Given the description of an element on the screen output the (x, y) to click on. 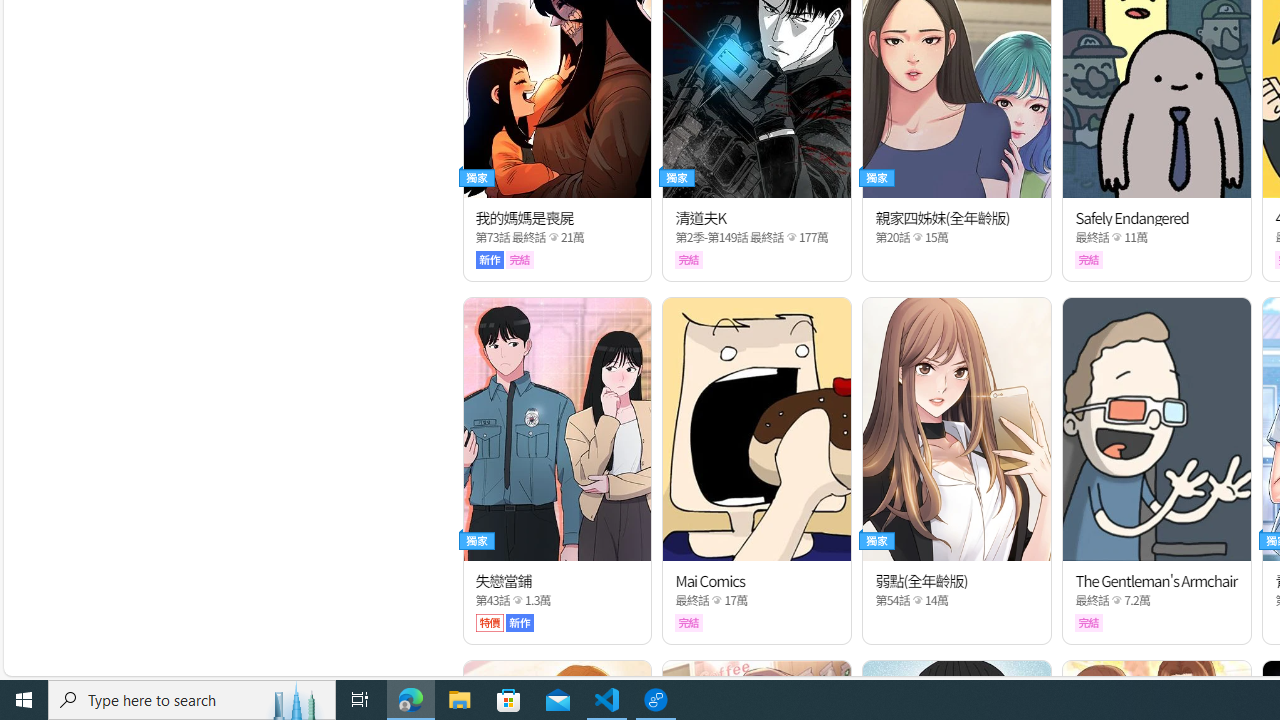
Class: epicon_starpoint (1117, 600)
Class: thumb_img (1156, 428)
